Given the description of an element on the screen output the (x, y) to click on. 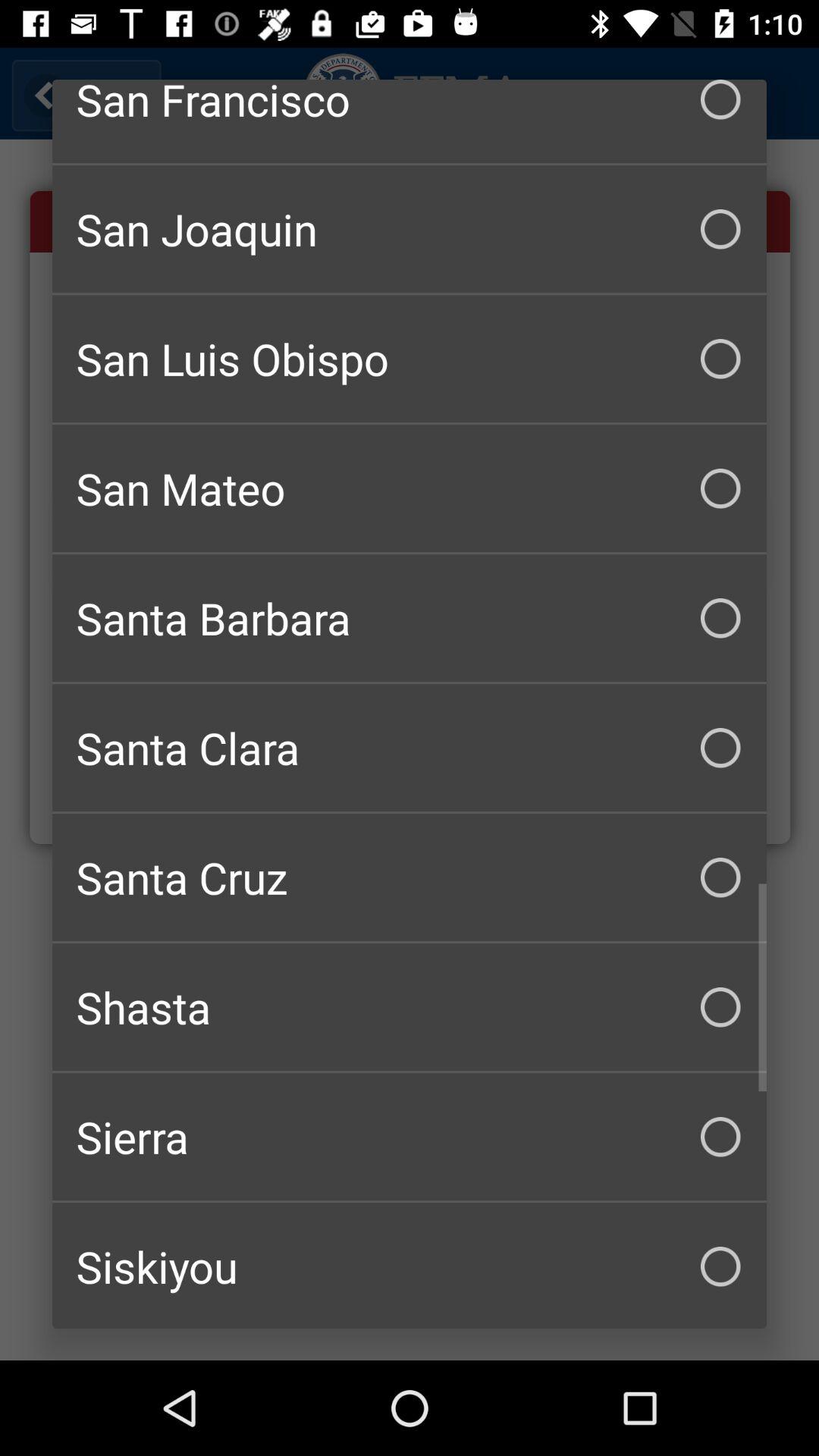
launch checkbox above siskiyou checkbox (409, 1136)
